Given the description of an element on the screen output the (x, y) to click on. 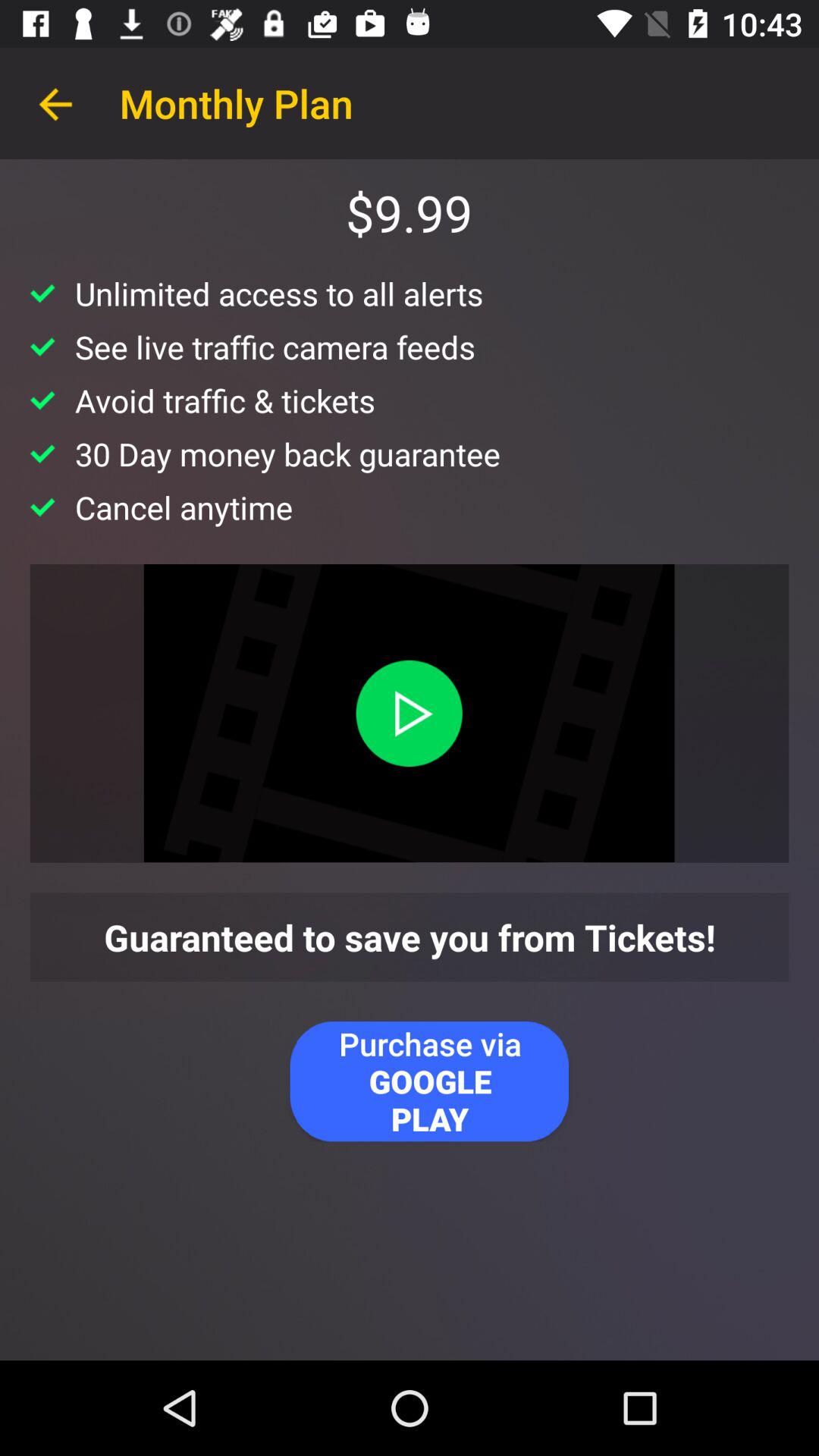
turn on icon below the cancel anytime app (409, 713)
